Given the description of an element on the screen output the (x, y) to click on. 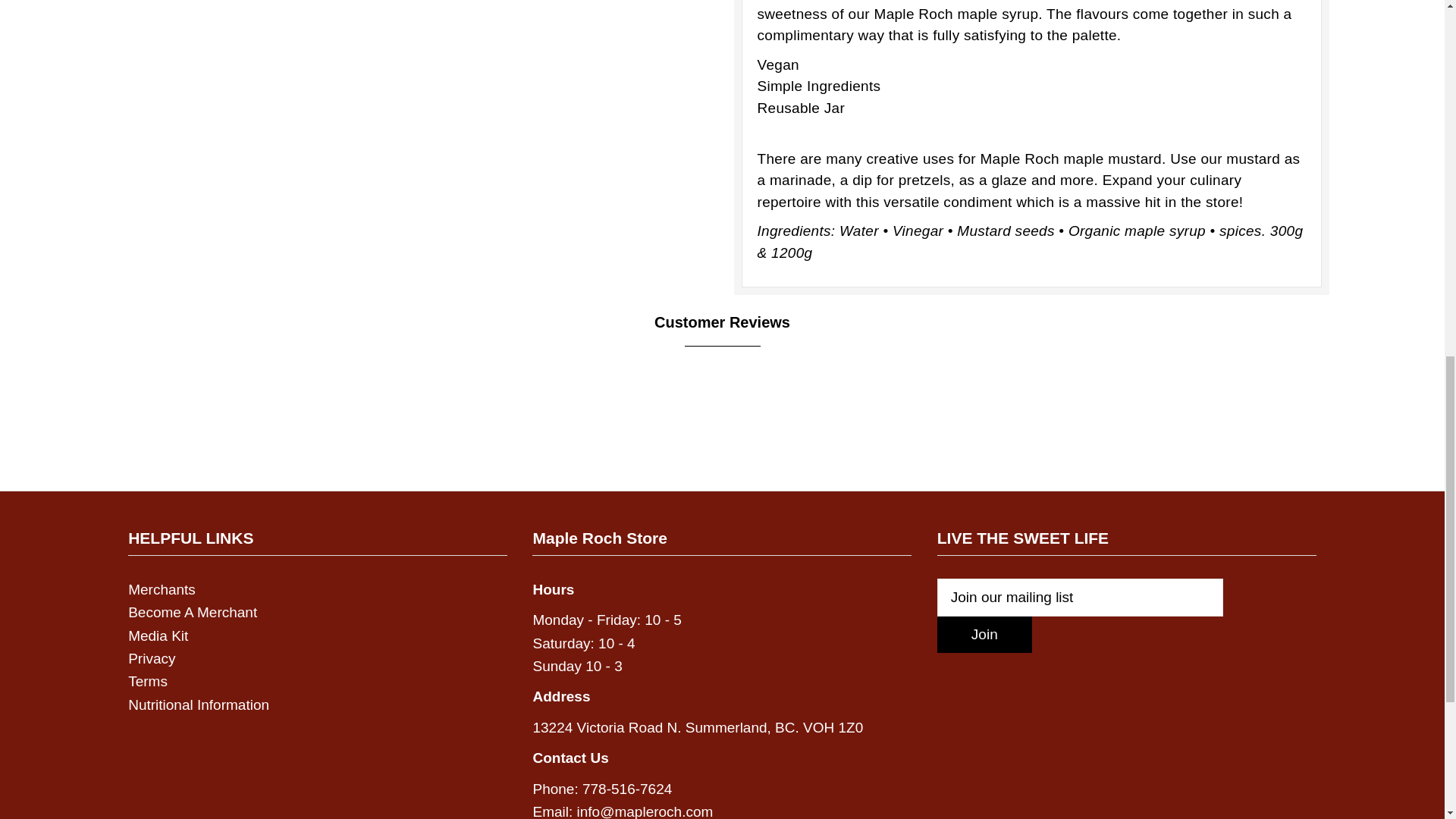
Join (984, 634)
